Given the description of an element on the screen output the (x, y) to click on. 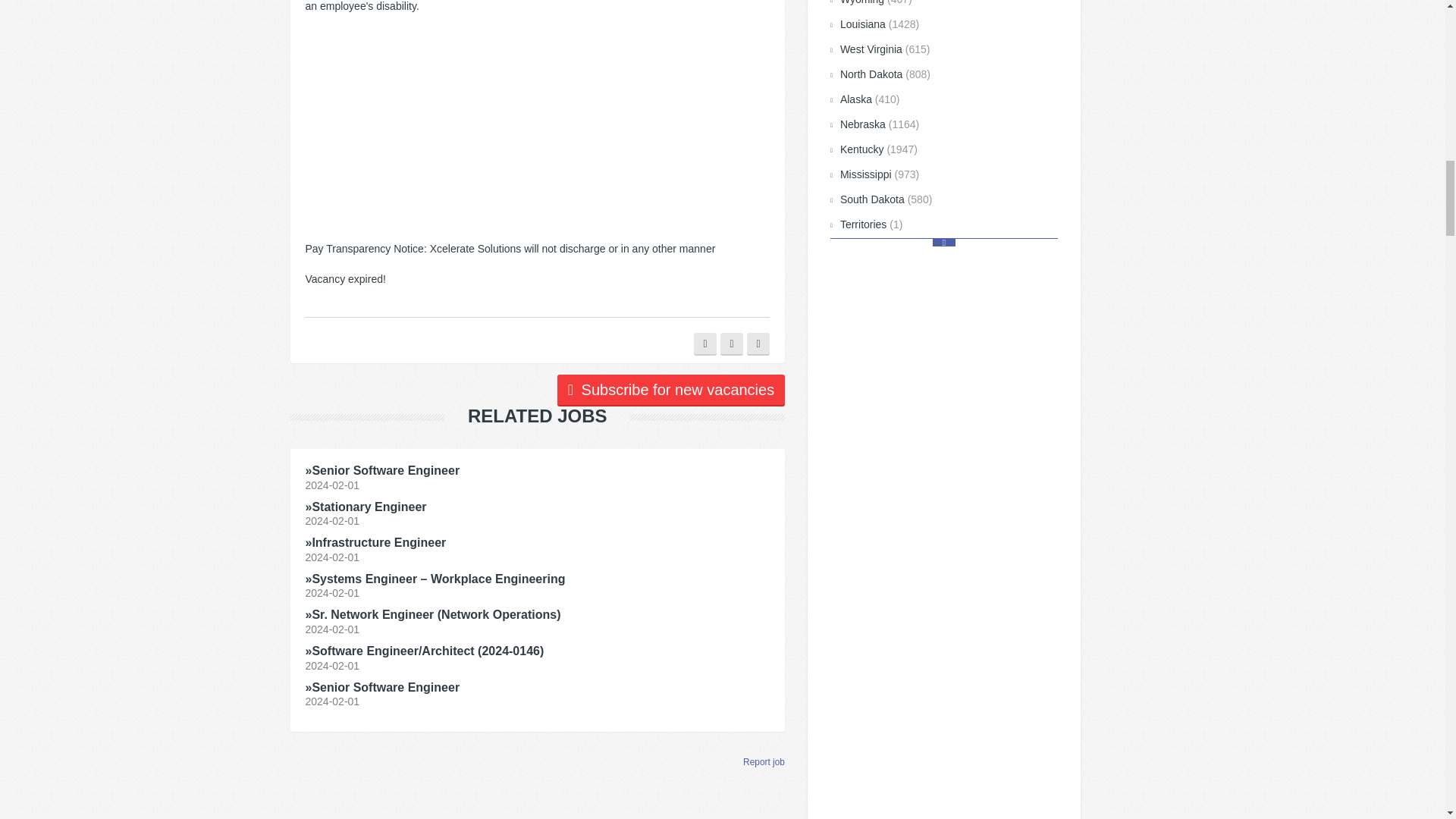
Advertisement (537, 134)
Twitter (731, 343)
Stationary Engineer (365, 506)
Senior Software Engineer (382, 470)
Facebook (705, 343)
Report job (763, 761)
LinkedIn (758, 343)
Subscribe for new vacancies (670, 390)
Subscribe for new vacancies (670, 390)
Infrastructure Engineer (374, 542)
